Given the description of an element on the screen output the (x, y) to click on. 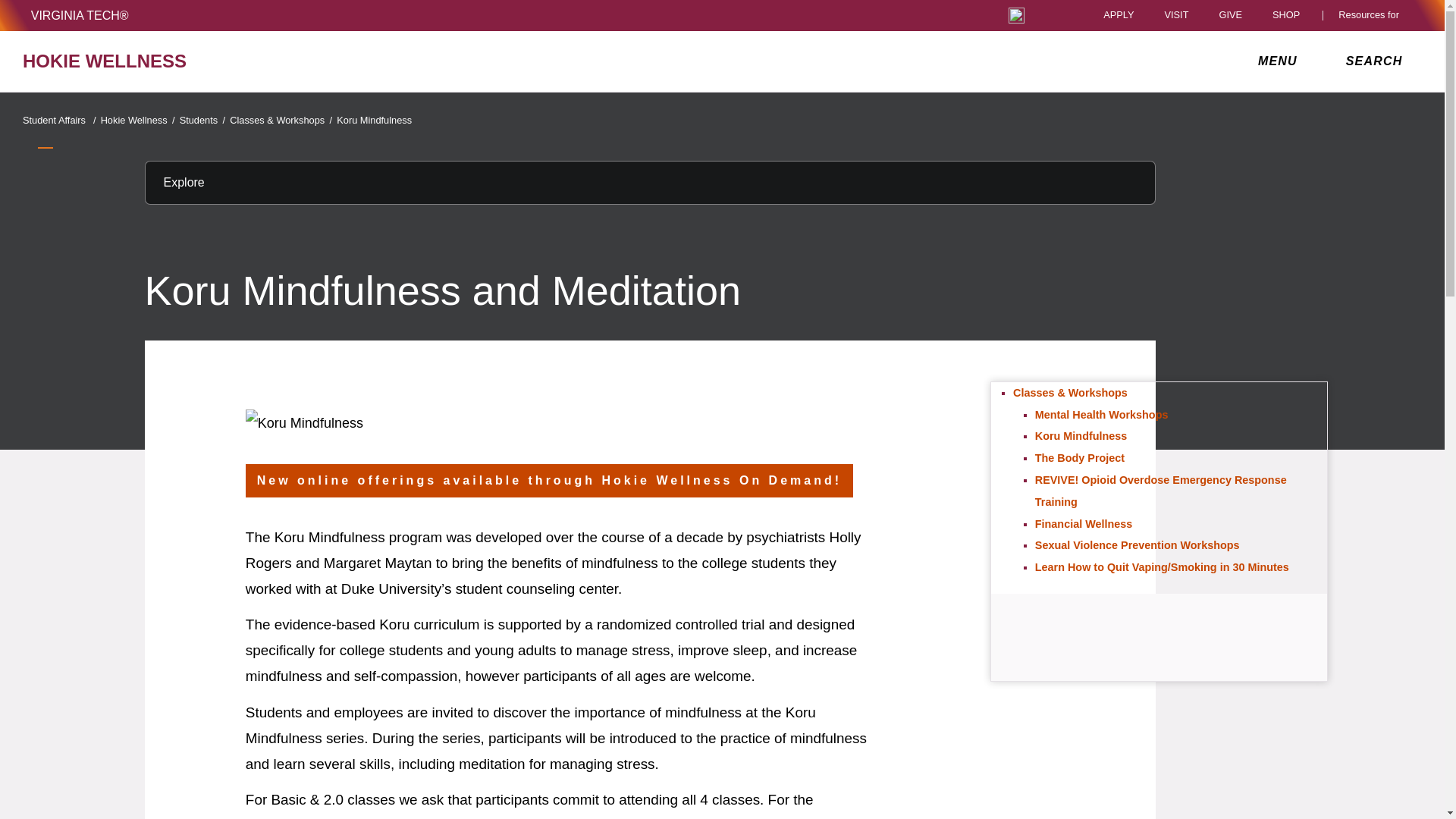
GIVE (1229, 15)
Universal Access Toggle (1017, 15)
VISIT (1175, 15)
Resources for (1372, 15)
HOKIE WELLNESS (250, 60)
SHOP (1289, 15)
MENU (1280, 61)
APPLY (1118, 15)
